Given the description of an element on the screen output the (x, y) to click on. 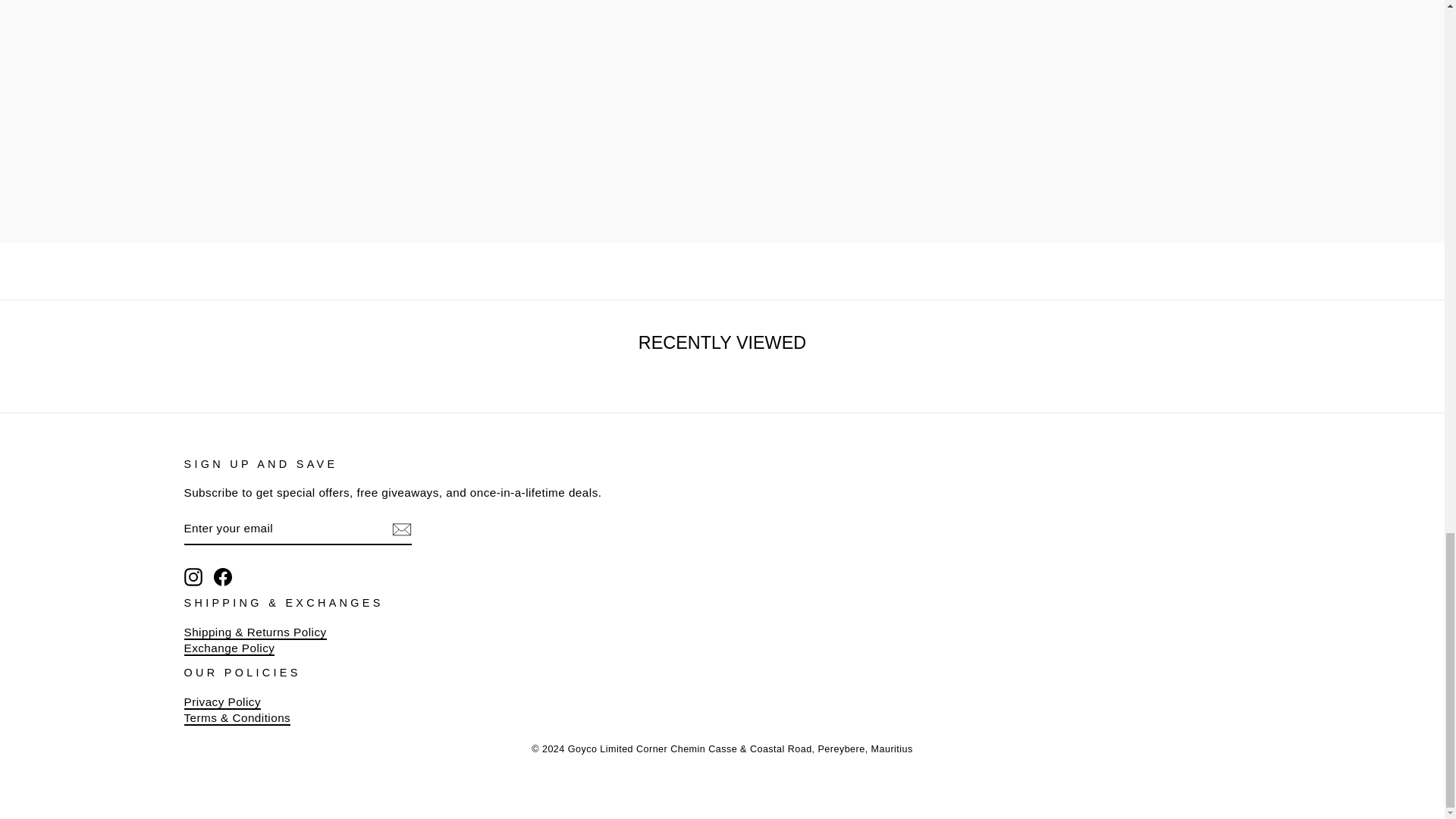
Goyco Limited  on Instagram (192, 577)
instagram (192, 577)
Shipping Policy (254, 632)
Privacy Policy (221, 702)
icon-email (400, 529)
Terms of Service (236, 718)
Goyco Limited  on Facebook (222, 577)
Exchange Policy (229, 648)
